Given the description of an element on the screen output the (x, y) to click on. 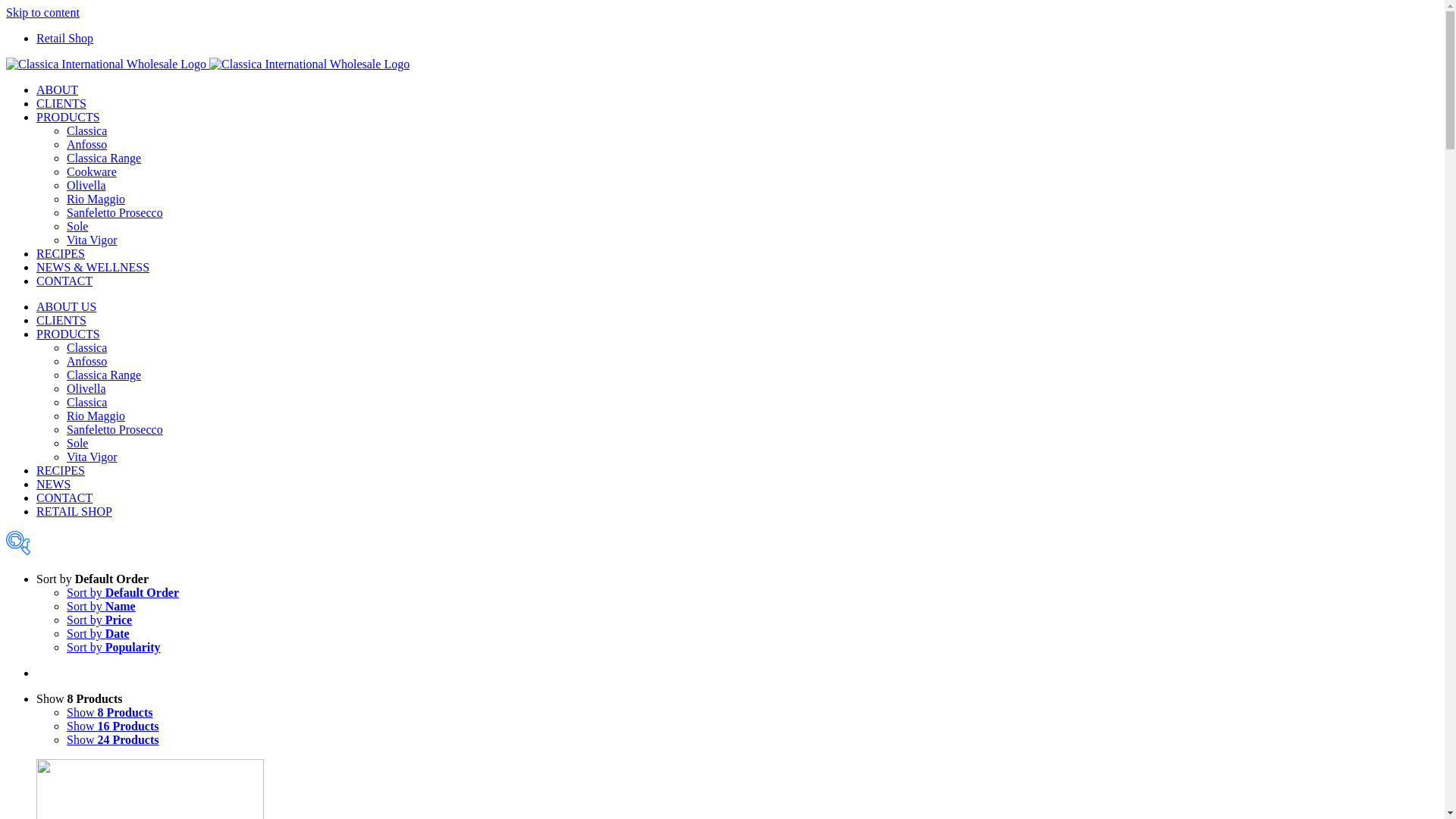
Vita Vigor Element type: text (91, 239)
Sort by Default Order Element type: text (122, 592)
Olivella Element type: text (86, 184)
Retail Shop Element type: text (64, 37)
CONTACT Element type: text (64, 497)
NEWS Element type: text (53, 483)
Cookware Element type: text (91, 171)
NEWS & WELLNESS Element type: text (92, 266)
Show 8 Products Element type: text (79, 698)
Classica Range Element type: text (103, 374)
Skip to content Element type: text (42, 12)
Show 24 Products Element type: text (112, 739)
CONTACT Element type: text (64, 280)
Sort by Price Element type: text (98, 619)
Sanfeletto Prosecco Element type: text (114, 212)
Show 16 Products Element type: text (112, 725)
Show 8 Products Element type: text (109, 712)
Sort by Popularity Element type: text (113, 646)
ABOUT Element type: text (57, 89)
CLIENTS Element type: text (61, 103)
Classica Element type: text (86, 347)
RECIPES Element type: text (60, 470)
Rio Maggio Element type: text (95, 198)
Vita Vigor Element type: text (91, 456)
ABOUT US Element type: text (66, 306)
PRODUCTS Element type: text (68, 333)
PRODUCTS Element type: text (68, 116)
Sort by Date Element type: text (97, 633)
Sort by Name Element type: text (100, 605)
Classica Range Element type: text (103, 157)
Sanfeletto Prosecco Element type: text (114, 429)
Classica Element type: text (86, 401)
Anfosso Element type: text (86, 144)
Anfosso Element type: text (86, 360)
Sole Element type: text (76, 225)
Classica Element type: text (86, 130)
CLIENTS Element type: text (61, 319)
Rio Maggio Element type: text (95, 415)
Sort by Default Order Element type: text (92, 578)
Sole Element type: text (76, 442)
RETAIL SHOP Element type: text (74, 511)
Olivella Element type: text (86, 388)
RECIPES Element type: text (60, 253)
